Given the description of an element on the screen output the (x, y) to click on. 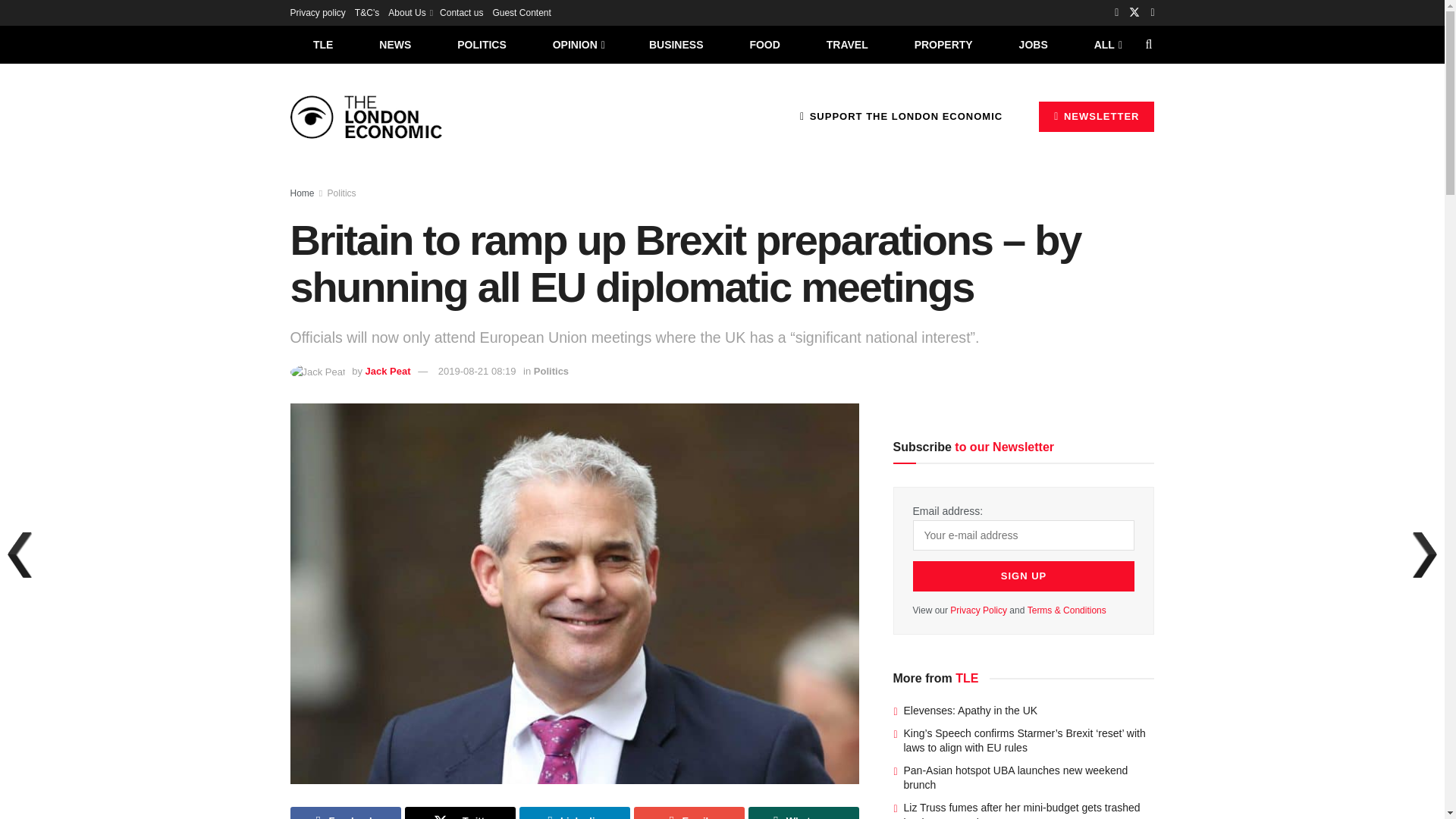
FOOD (764, 44)
Sign up (1023, 576)
TLE (322, 44)
BUSINESS (676, 44)
OPINION (577, 44)
PROPERTY (943, 44)
TRAVEL (847, 44)
POLITICS (481, 44)
SUPPORT THE LONDON ECONOMIC (900, 116)
Privacy policy (317, 12)
Home (301, 193)
Contact us (461, 12)
NEWSLETTER (1096, 116)
Guest Content (521, 12)
JOBS (1032, 44)
